Given the description of an element on the screen output the (x, y) to click on. 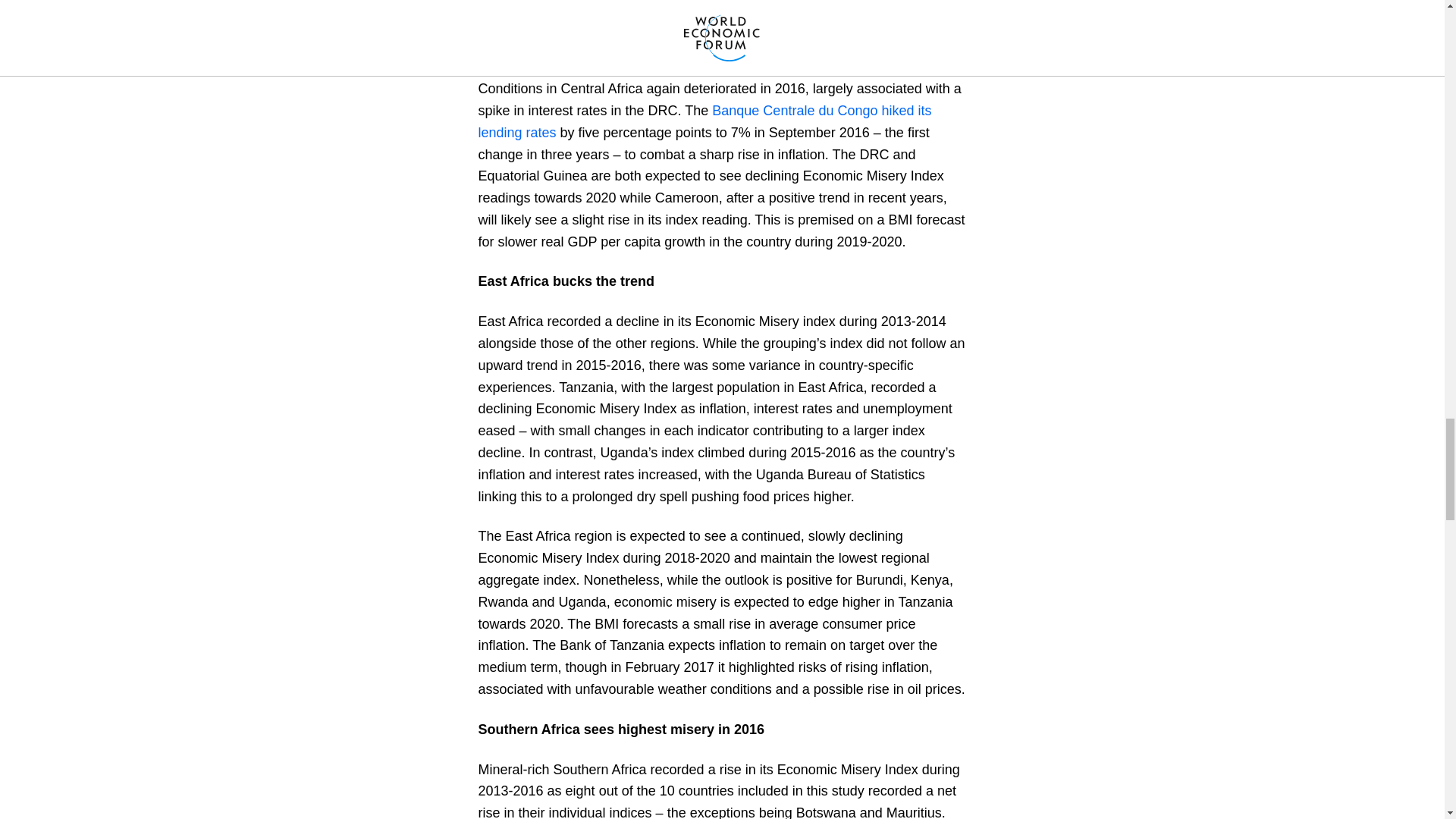
Banque Centrale du Congo hiked its lending rates (704, 121)
